Given the description of an element on the screen output the (x, y) to click on. 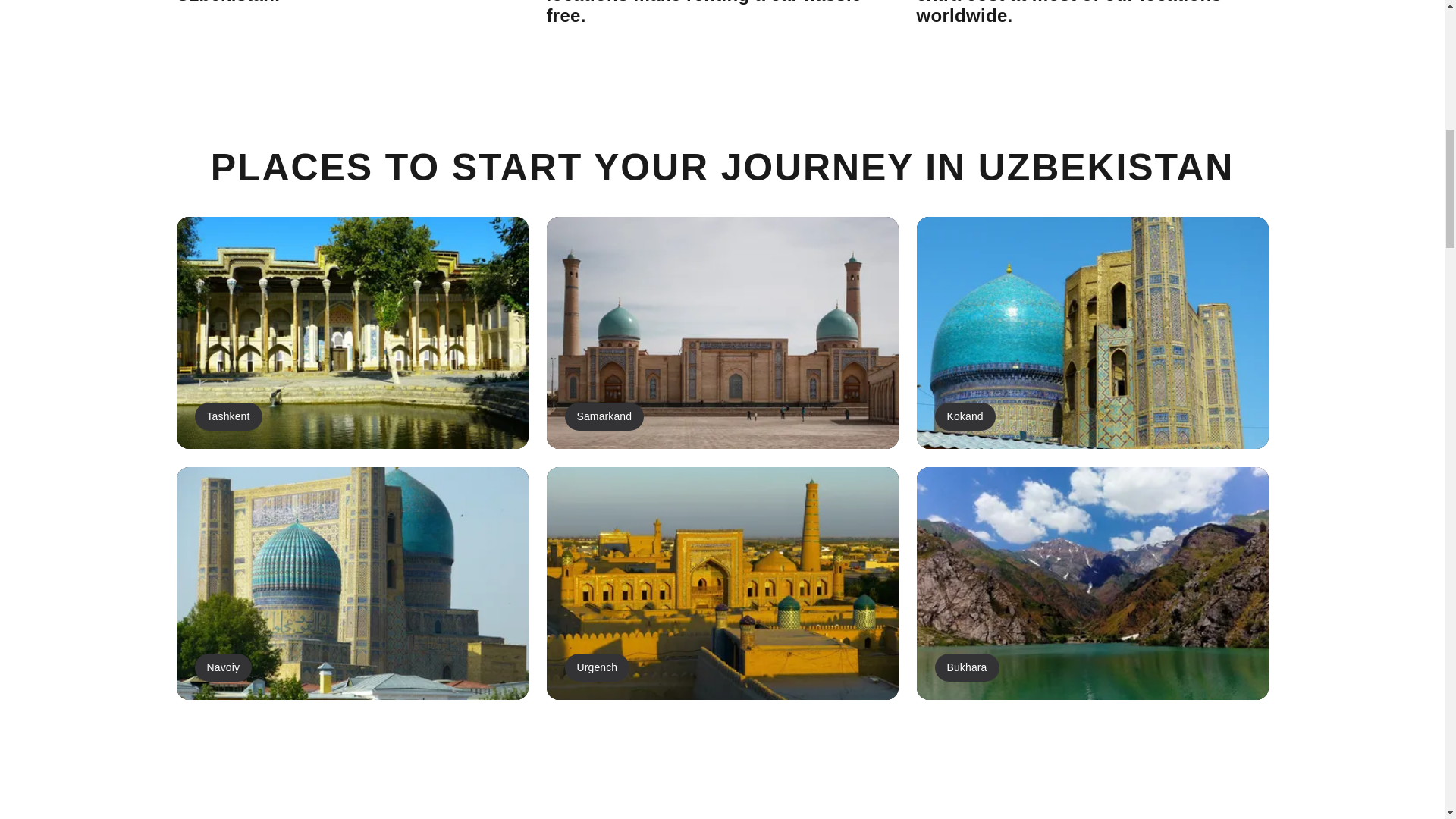
Urgench (722, 582)
Samarkand (722, 332)
Bukhara (1091, 582)
Tashkent (351, 332)
Urgench (722, 582)
Navoiy (351, 582)
Samarkand (722, 332)
Tashkent (351, 332)
Navoiy (351, 582)
Bukhara (1091, 582)
Kokand (1091, 332)
Kokand (1091, 332)
